Given the description of an element on the screen output the (x, y) to click on. 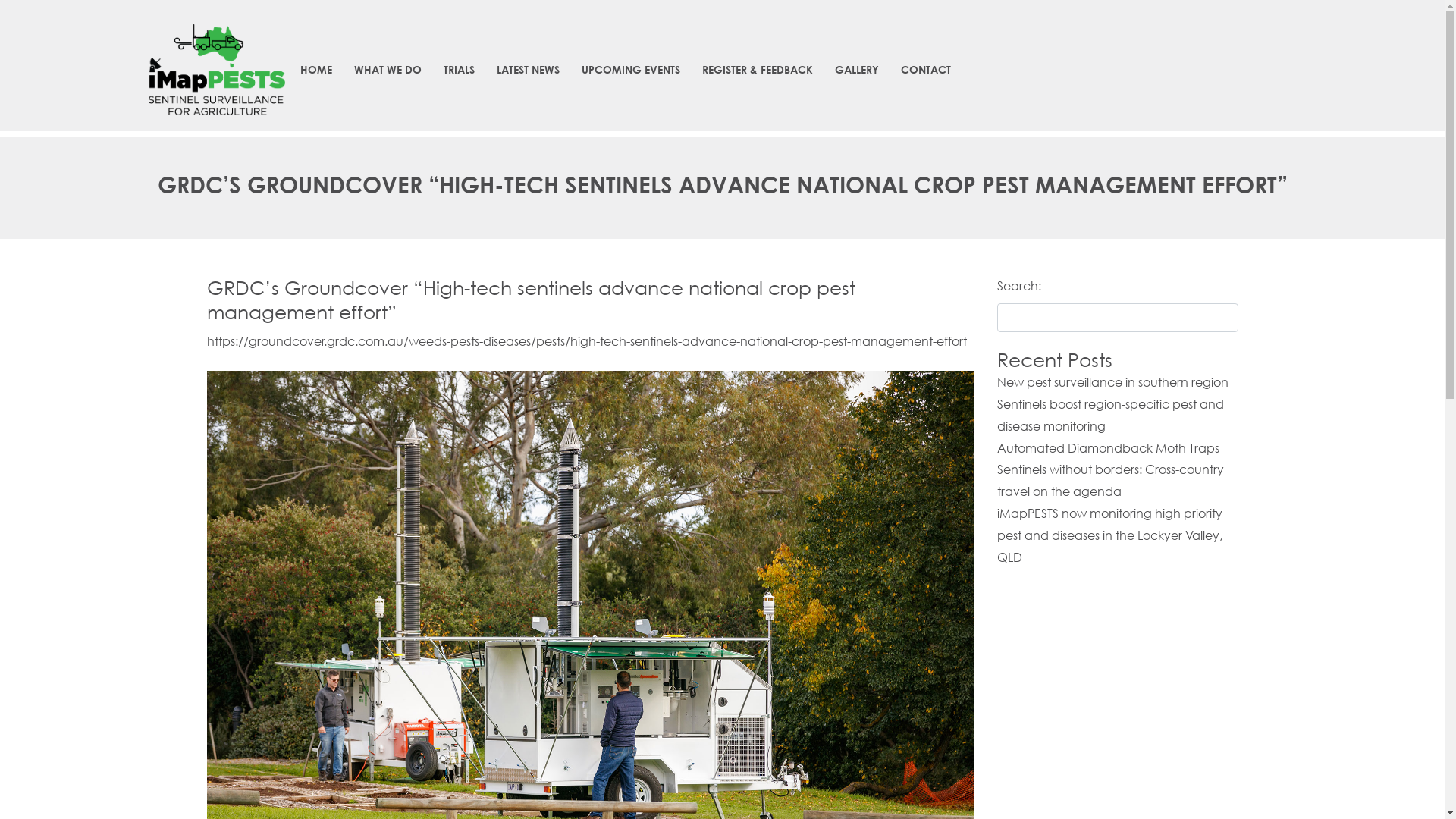
Sentinels boost region-specific pest and disease monitoring Element type: text (1110, 414)
LATEST NEWS Element type: text (527, 69)
WHAT WE DO Element type: text (387, 69)
REGISTER & FEEDBACK Element type: text (757, 69)
CONTACT Element type: text (925, 69)
UPCOMING EVENTS Element type: text (630, 69)
HOME Element type: text (316, 69)
GALLERY Element type: text (856, 69)
New pest surveillance in southern region Element type: text (1112, 381)
TRIALS Element type: text (458, 69)
Automated Diamondback Moth Traps Element type: text (1108, 447)
